Given the description of an element on the screen output the (x, y) to click on. 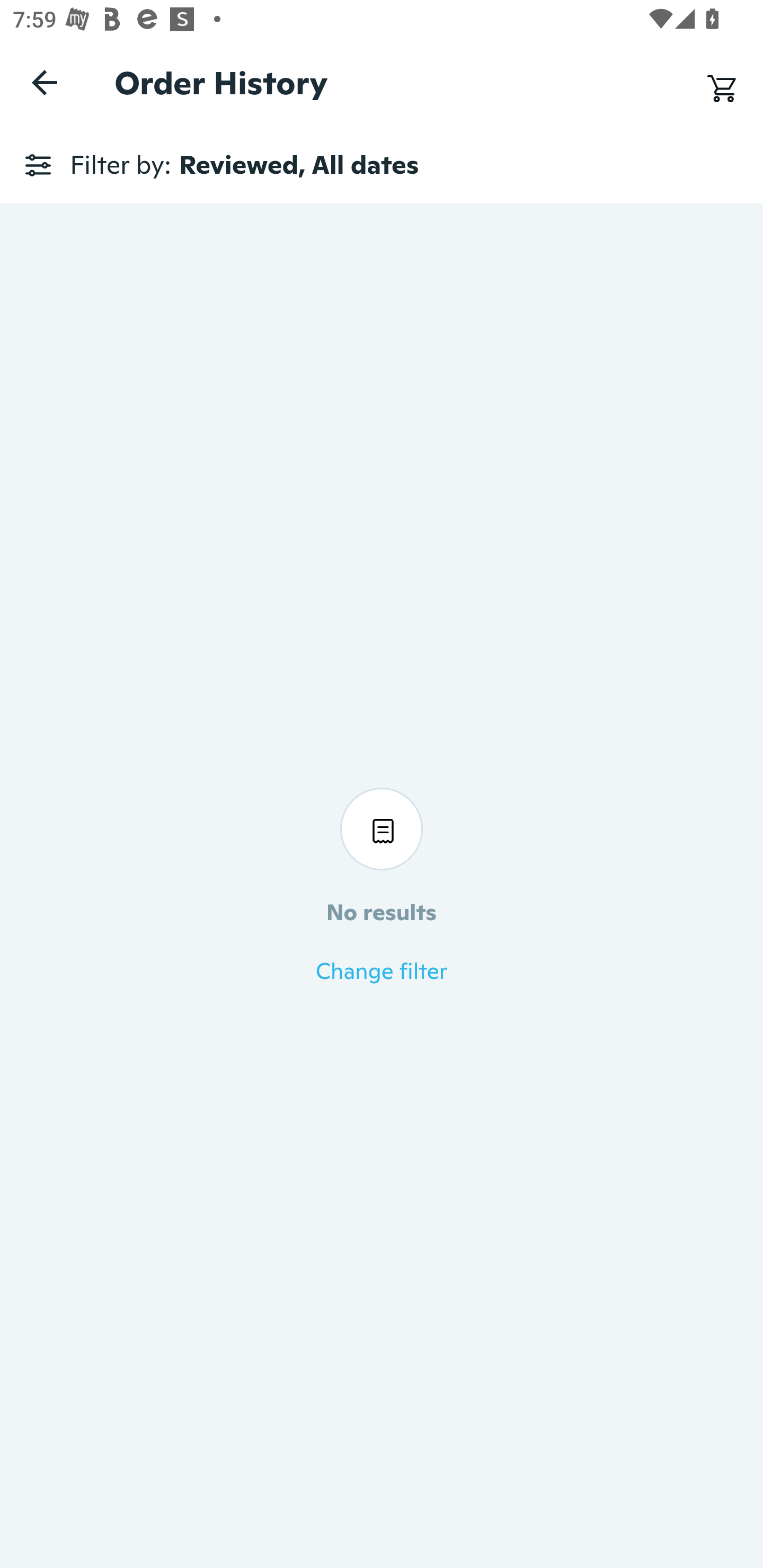
Navigate up (44, 82)
indeterminate (381, 184)
